Given the description of an element on the screen output the (x, y) to click on. 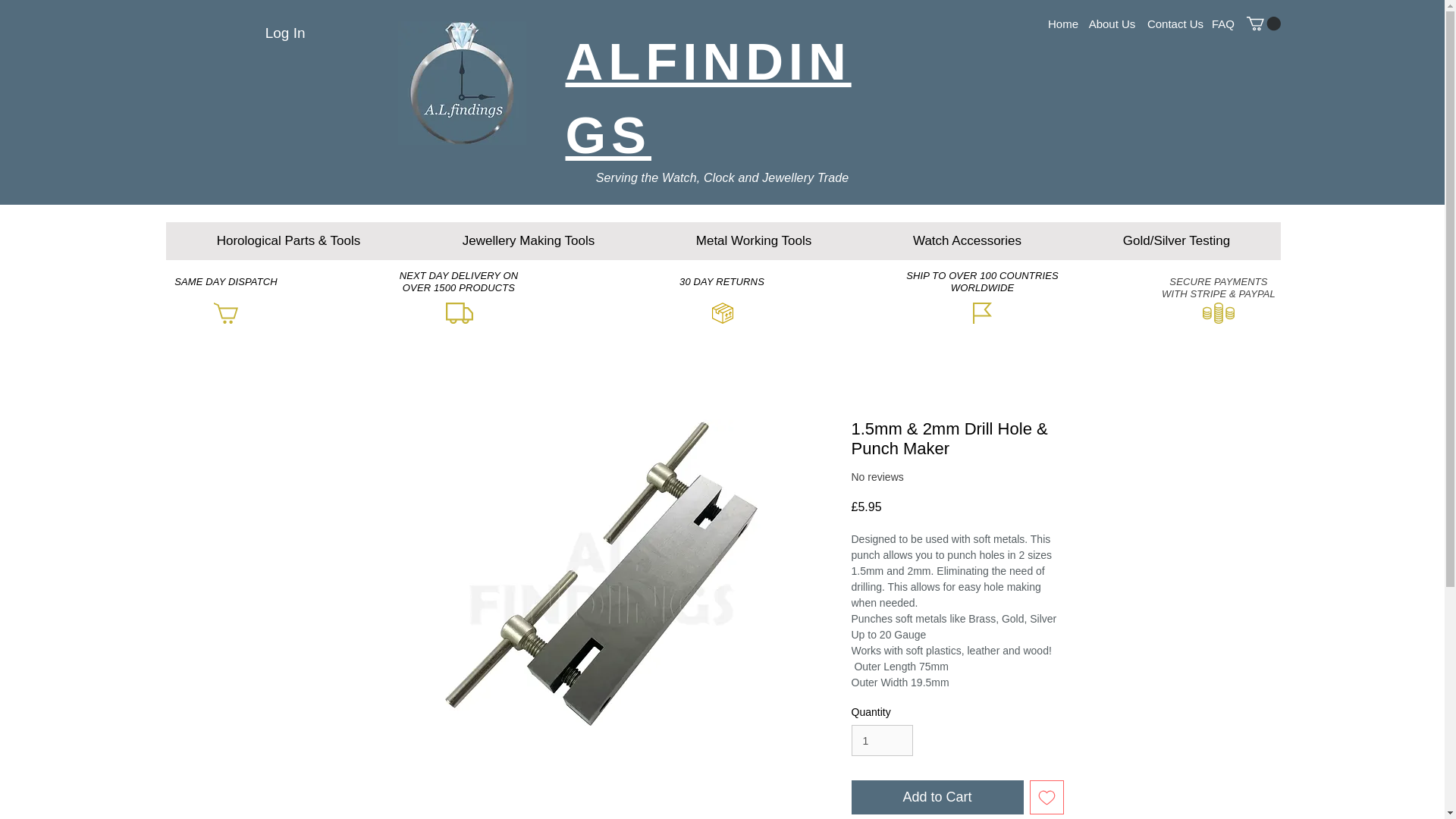
FAQ (1221, 23)
1 (881, 739)
Log In (284, 33)
alfinding ltd (461, 82)
Metal Working Tools (753, 240)
Add to Cart (936, 797)
Contact Us (1175, 23)
About Us (1111, 23)
Jewellery Making Tools (527, 240)
Home (1063, 23)
